Given the description of an element on the screen output the (x, y) to click on. 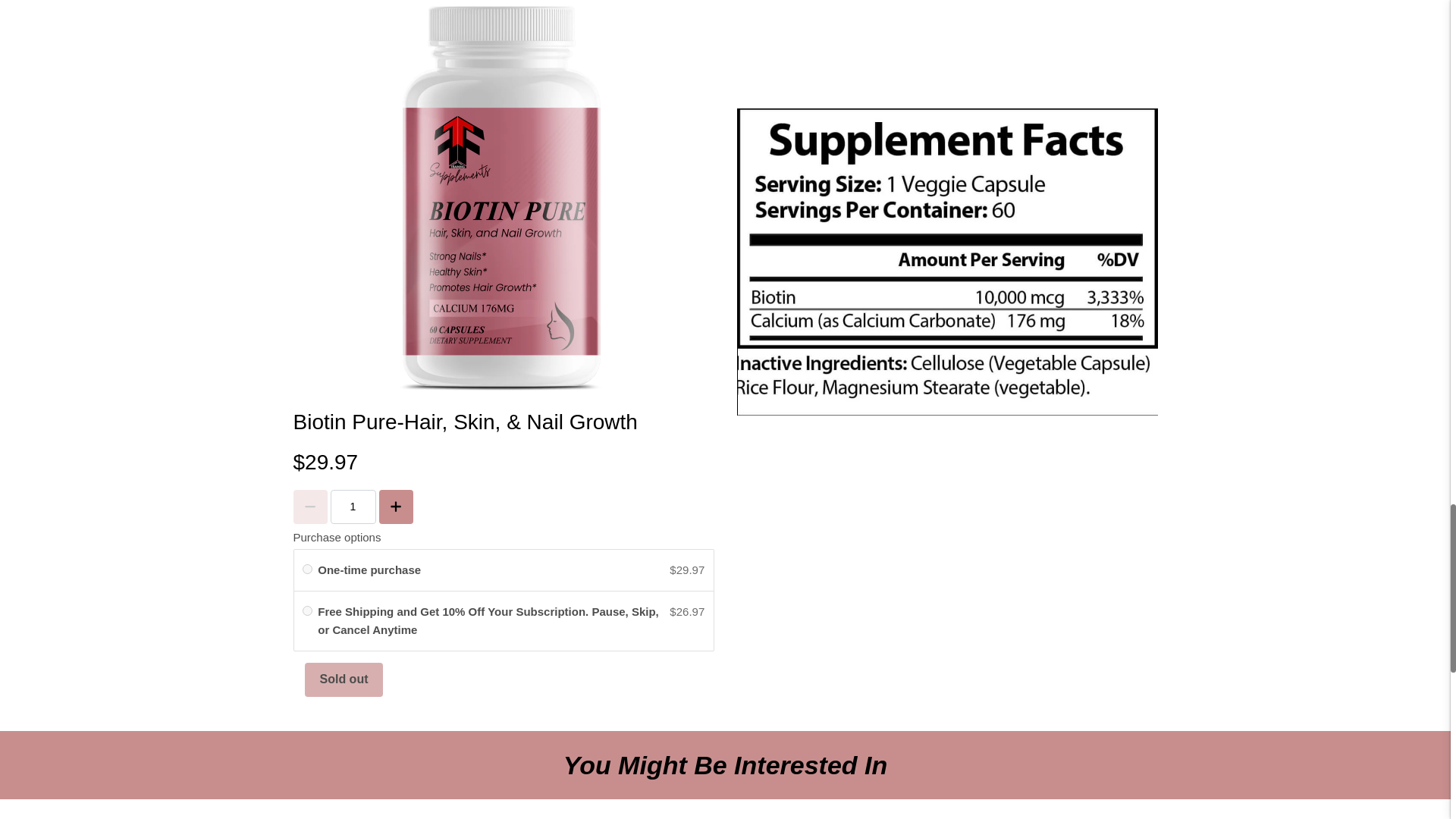
0 (307, 610)
1 (352, 506)
